Given the description of an element on the screen output the (x, y) to click on. 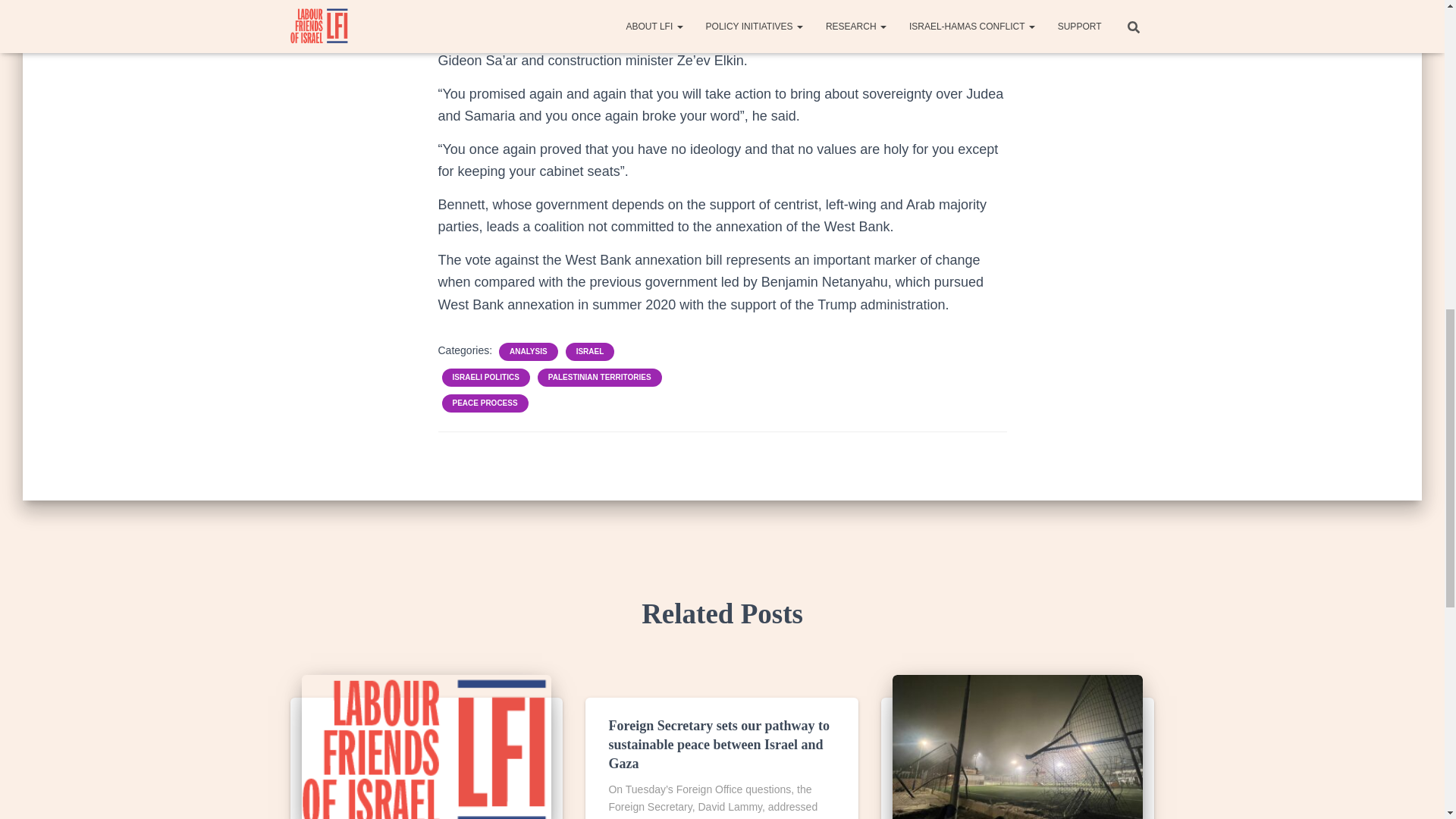
ISRAEL (590, 351)
ISRAELI POLITICS (484, 377)
PALESTINIAN TERRITORIES (599, 377)
ANALYSIS (528, 351)
PEACE PROCESS (483, 403)
